Given the description of an element on the screen output the (x, y) to click on. 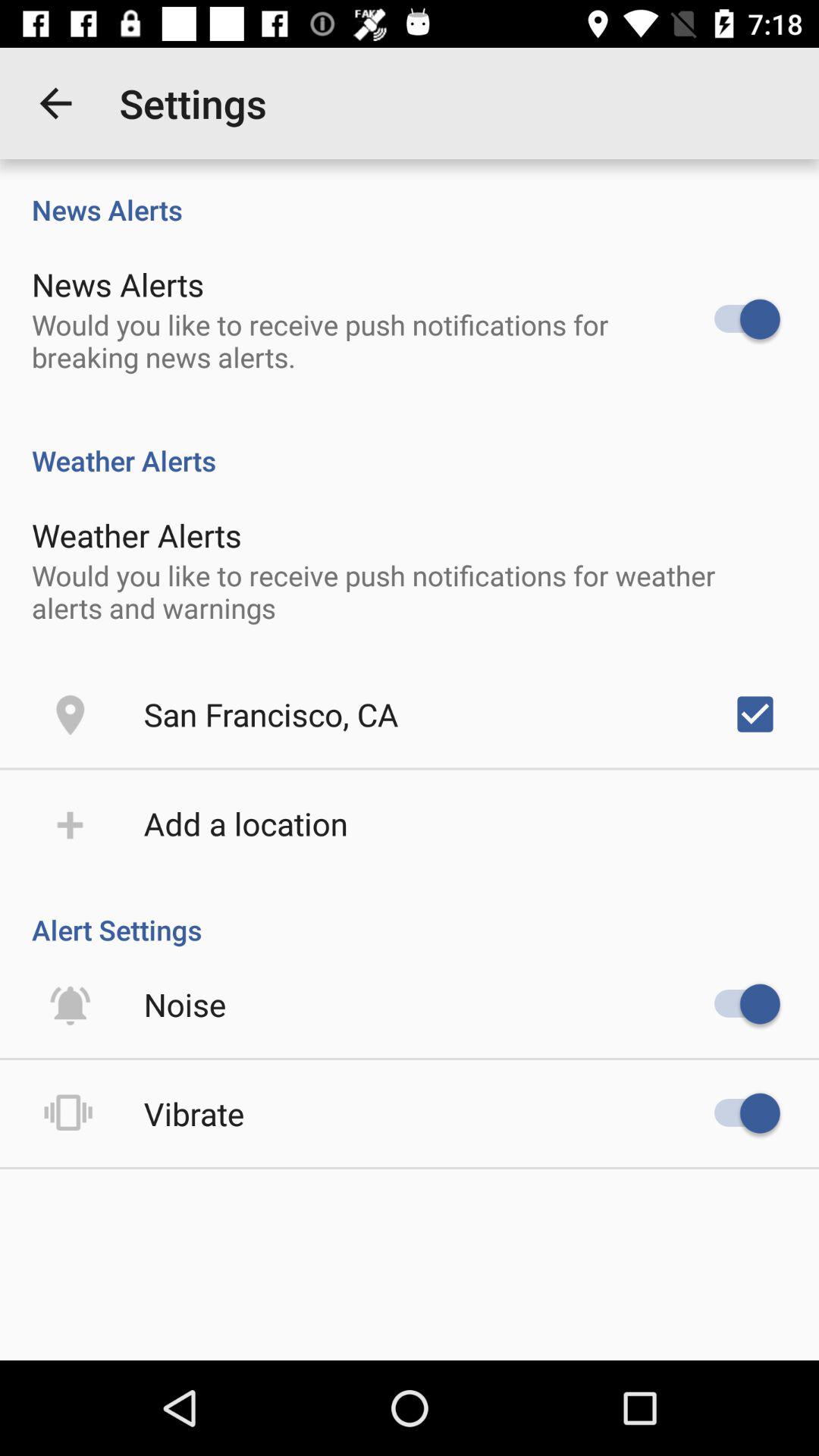
click icon below alert settings item (184, 1004)
